Given the description of an element on the screen output the (x, y) to click on. 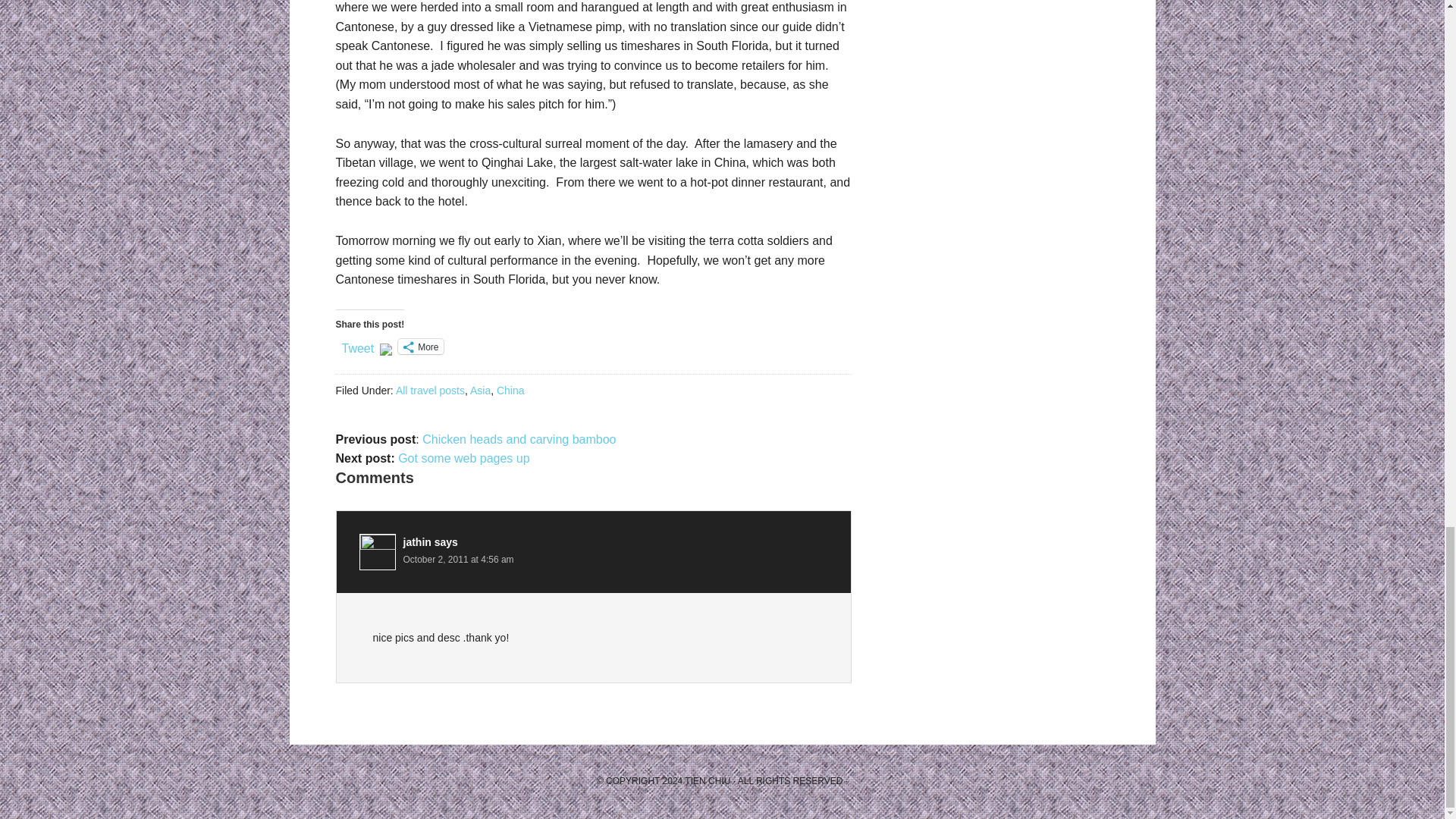
More (419, 346)
China (510, 390)
Tweet (357, 345)
All travel posts (430, 390)
October 2, 2011 at 4:56 am (458, 559)
TIEN CHIU (707, 780)
Chicken heads and carving bamboo (518, 439)
Asia (480, 390)
Got some web pages up (463, 458)
